Given the description of an element on the screen output the (x, y) to click on. 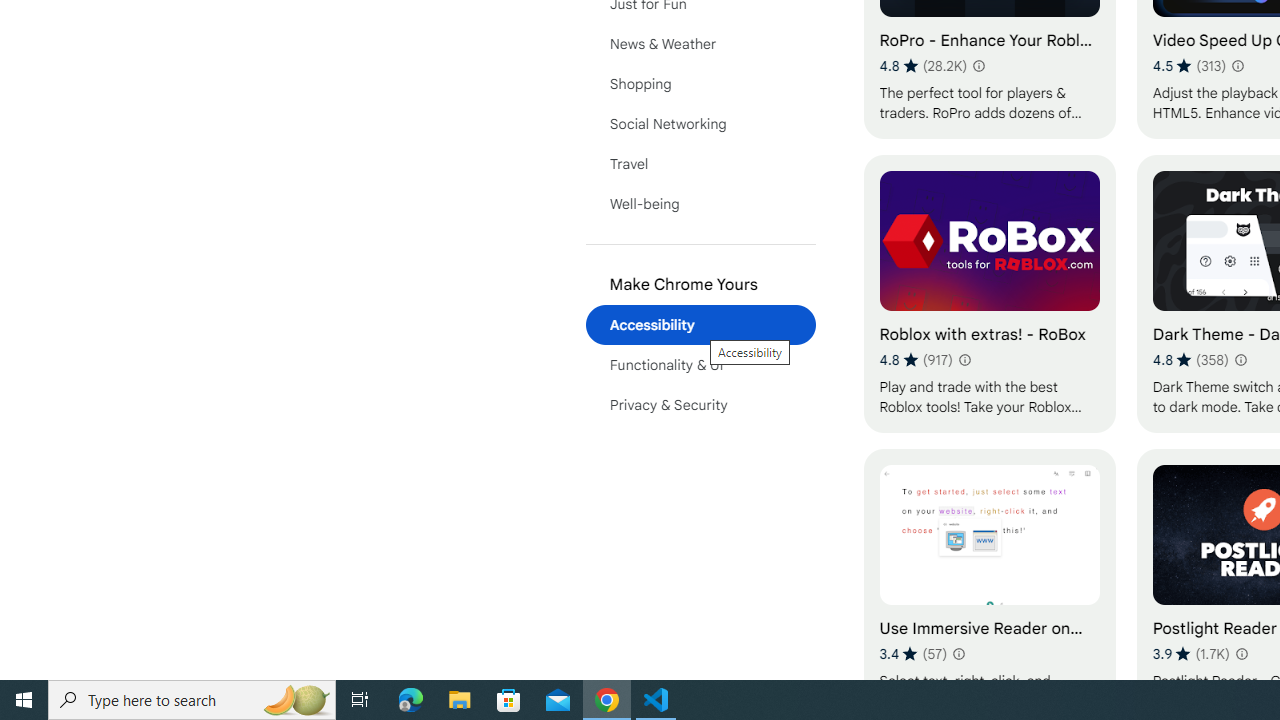
Shopping (700, 83)
Average rating 3.9 out of 5 stars. 1.7K ratings. (1191, 653)
Travel (700, 164)
Roblox with extras! - RoBox (989, 293)
Average rating 4.8 out of 5 stars. 917 ratings. (916, 359)
News & Weather (700, 43)
Social Networking (700, 123)
Privacy & Security (700, 404)
Functionality & UI (700, 364)
Average rating 3.4 out of 5 stars. 57 ratings. (913, 653)
Learn more about results and reviews "Postlight Reader" (1240, 654)
Average rating 4.5 out of 5 stars. 313 ratings. (1189, 66)
Well-being (700, 203)
